Given the description of an element on the screen output the (x, y) to click on. 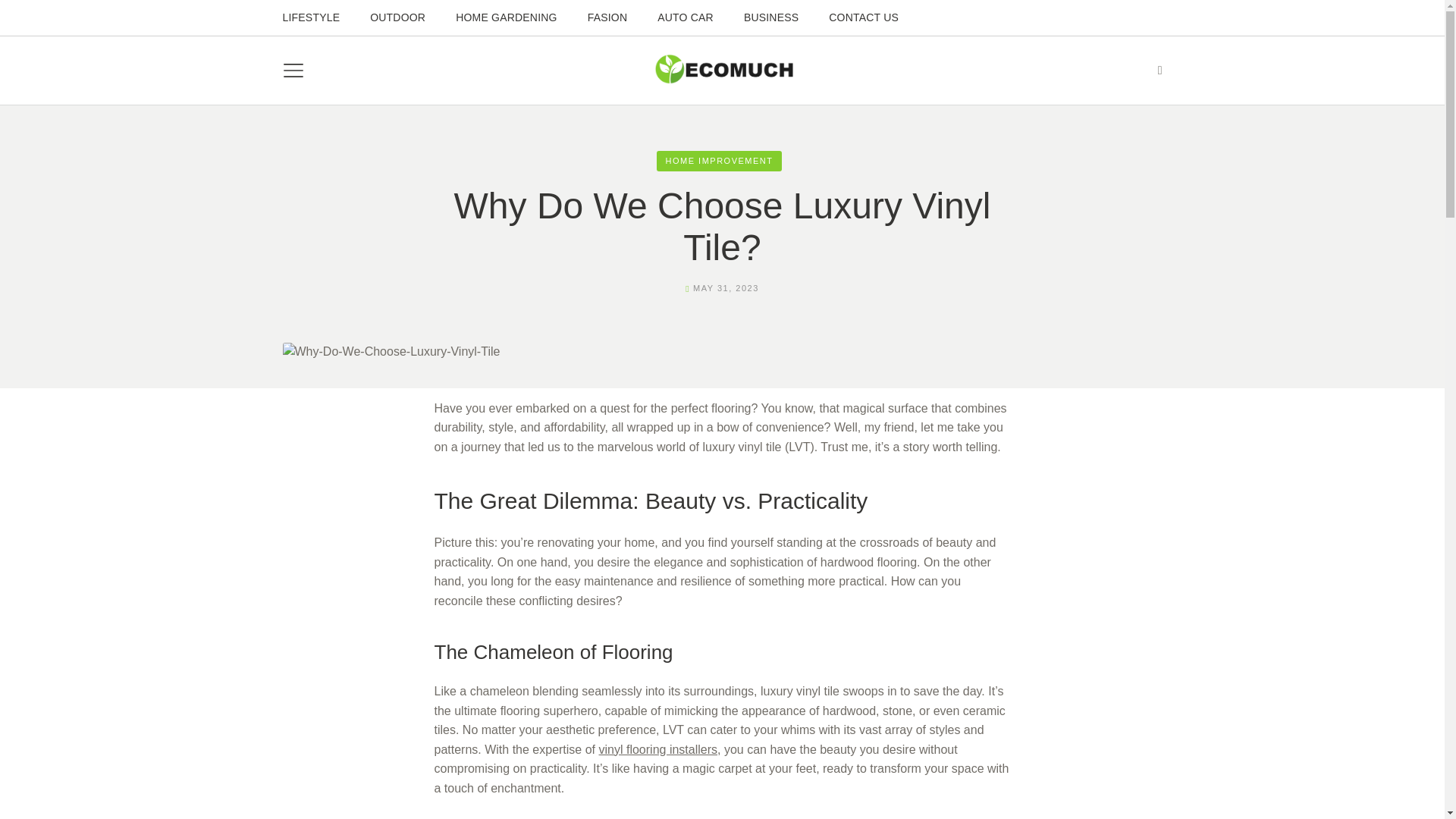
HOME GARDENING (505, 17)
AUTO CAR (684, 17)
OUTDOOR (397, 17)
HOME IMPROVEMENT (719, 160)
MAY 31, 2023 (725, 287)
BUSINESS (771, 17)
vinyl flooring installers (657, 748)
LIFESTYLE (311, 17)
FASION (606, 17)
CONTACT US (863, 17)
